Given the description of an element on the screen output the (x, y) to click on. 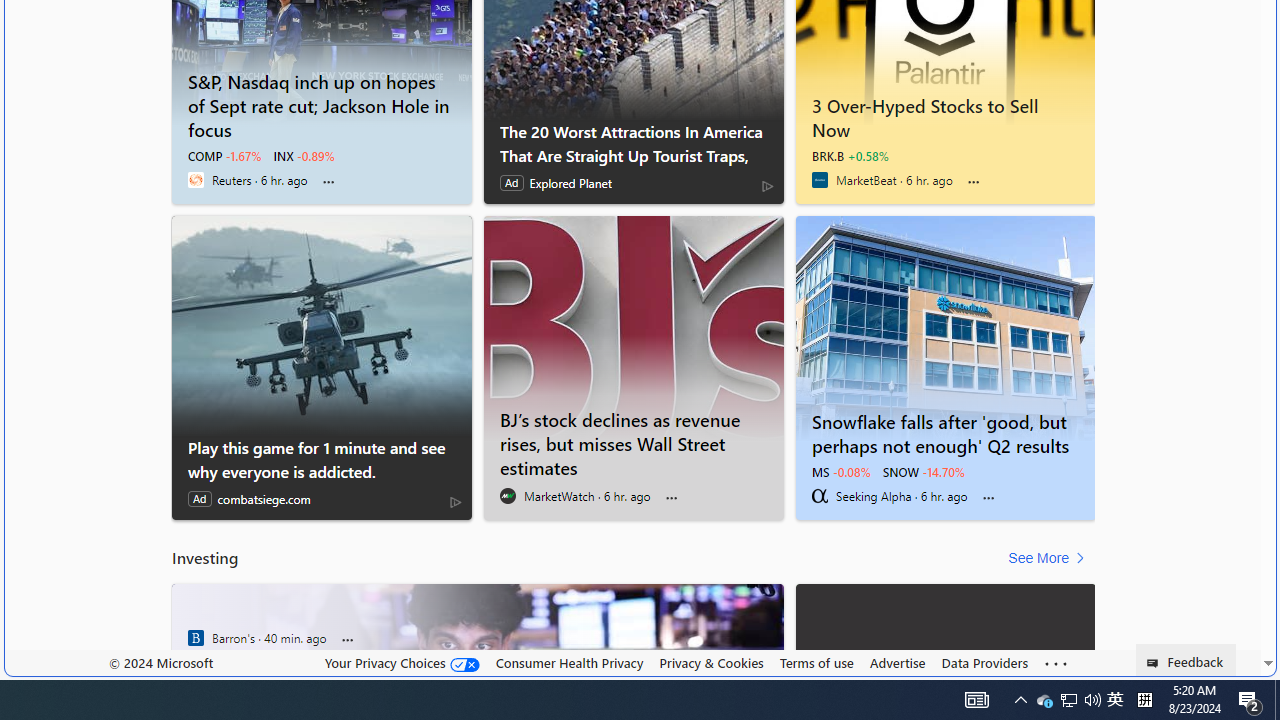
Reuters (195, 179)
3 Over-Hyped Stocks to Sell Now - MarketBeat (945, 114)
SNOW -14.70% (923, 471)
Class: feedback_link_icon-DS-EntryPoint1-1 (1156, 663)
MS -0.08% (840, 471)
Data Providers (983, 663)
AdChoices (456, 501)
